Given the description of an element on the screen output the (x, y) to click on. 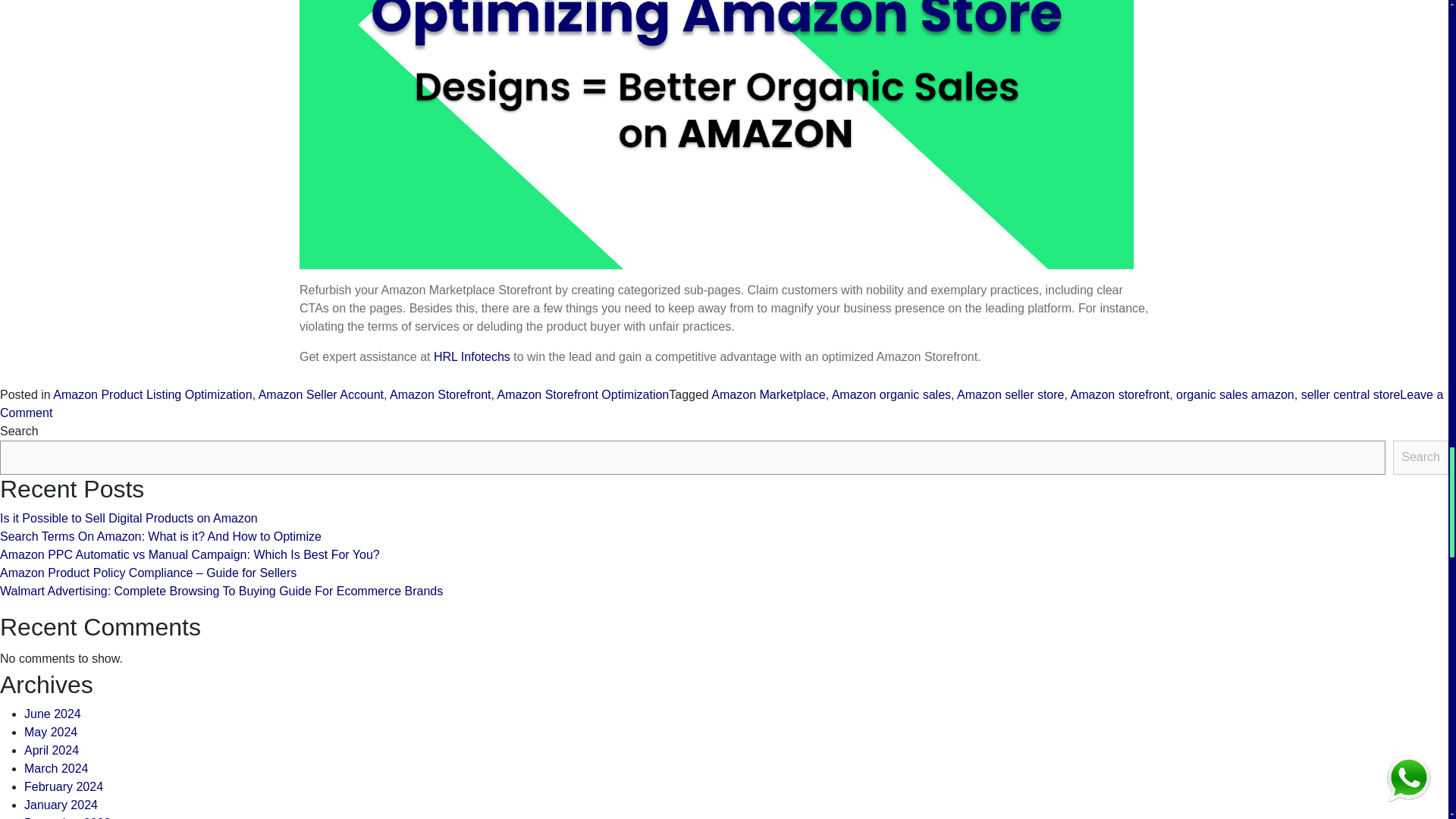
organic sales amazon (1235, 394)
Amazon Storefront Optimization (583, 394)
Amazon Storefront (440, 394)
Amazon Product Listing Optimization (151, 394)
seller central store (1350, 394)
Amazon organic sales (890, 394)
Amazon Marketplace (768, 394)
Amazon storefront (1119, 394)
Amazon seller store (1010, 394)
HRL Infotechs (472, 356)
Leave a Comment (721, 403)
Amazon Seller Account (321, 394)
